Given the description of an element on the screen output the (x, y) to click on. 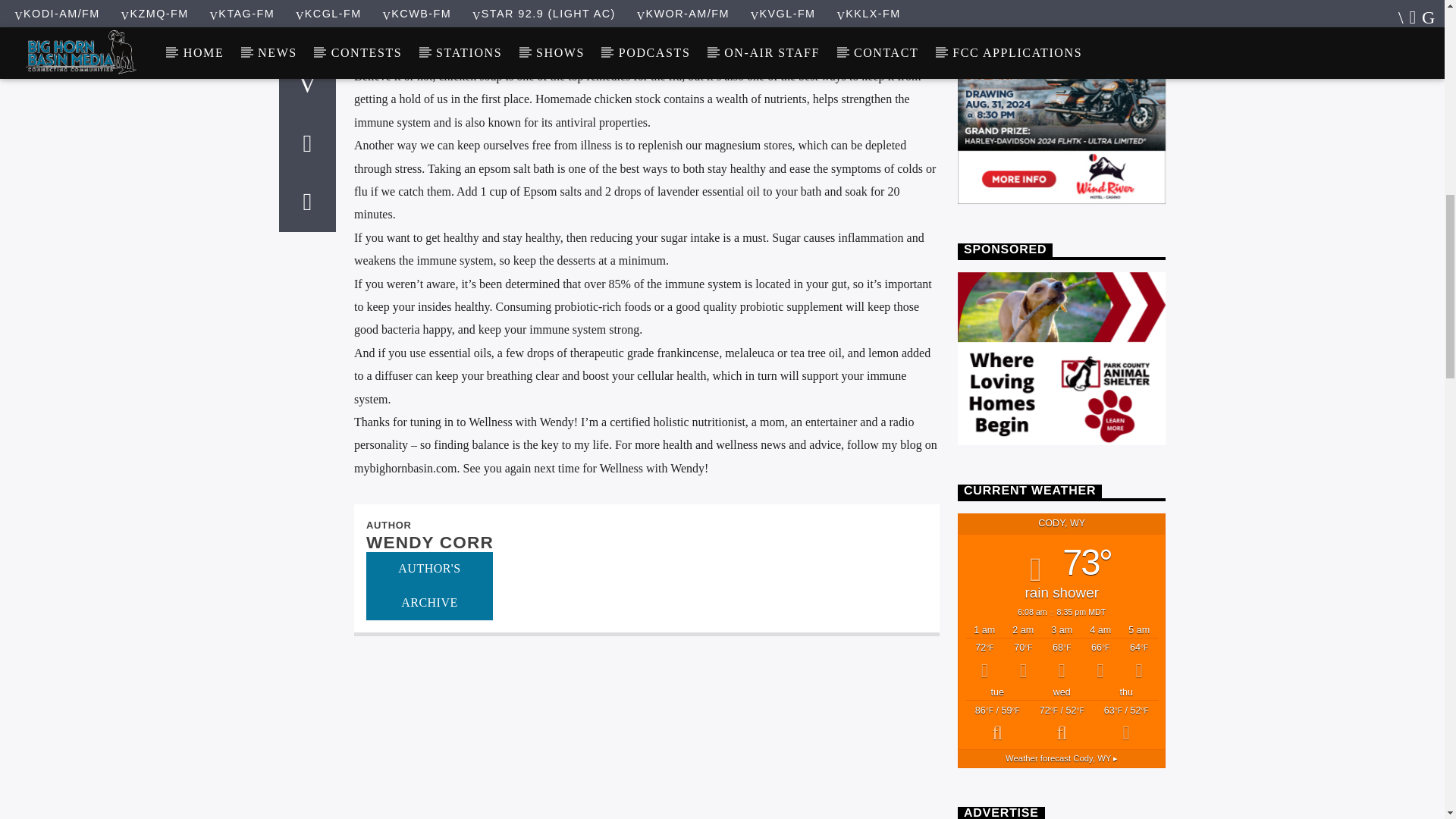
Cloudy (1126, 722)
Advertise (1062, 358)
Partly Cloudy (1061, 722)
Partly Cloudy (1061, 660)
Partly Cloudy (1023, 660)
Weather forecast Cody, Wyoming, USA (1062, 757)
Partly Cloudy (984, 660)
Advertise (1062, 117)
Mostly Clear (1100, 660)
Clear (1138, 660)
Partly Cloudy (997, 722)
